Given the description of an element on the screen output the (x, y) to click on. 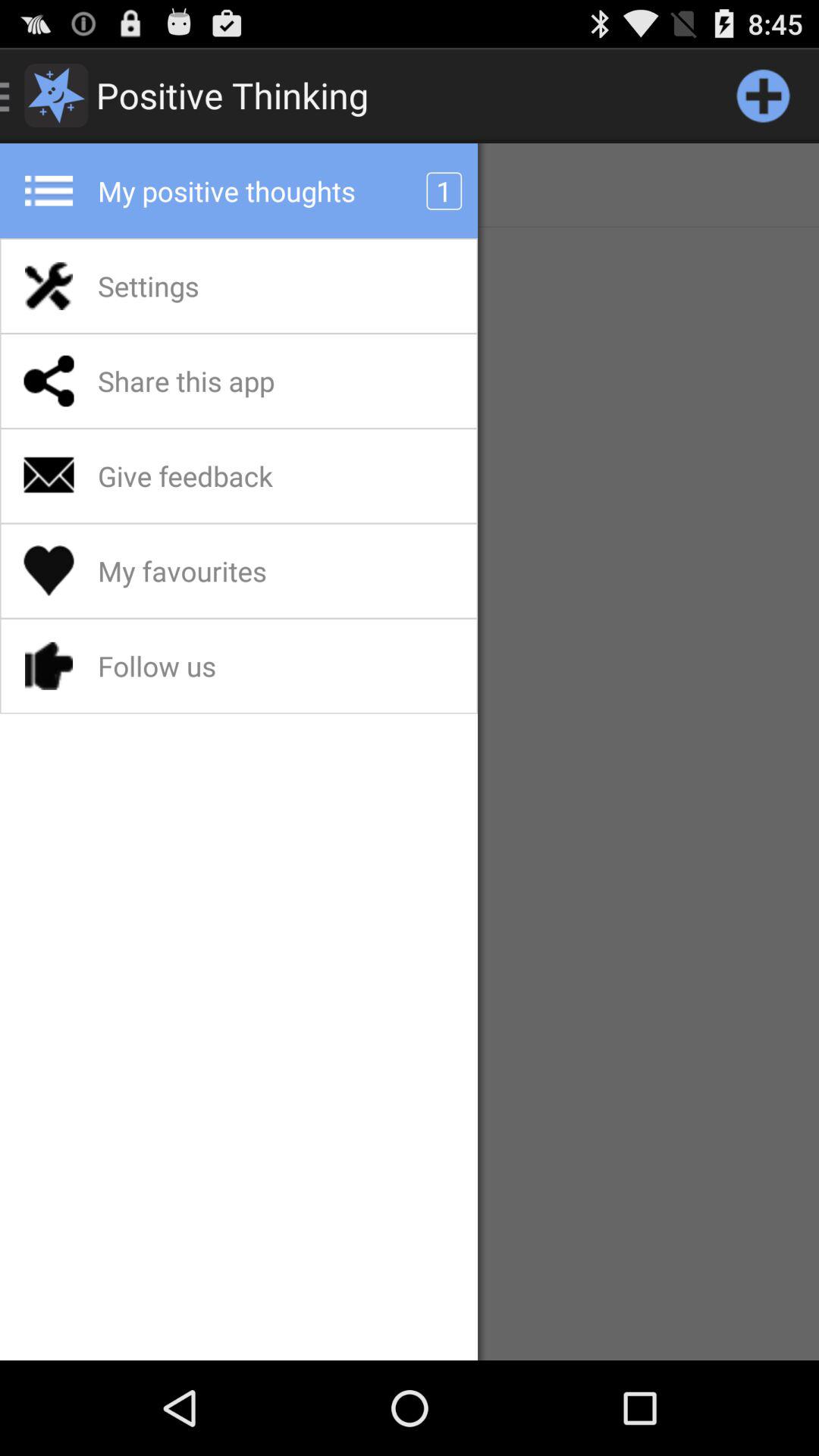
flip to my positive thoughts app (266, 190)
